Given the description of an element on the screen output the (x, y) to click on. 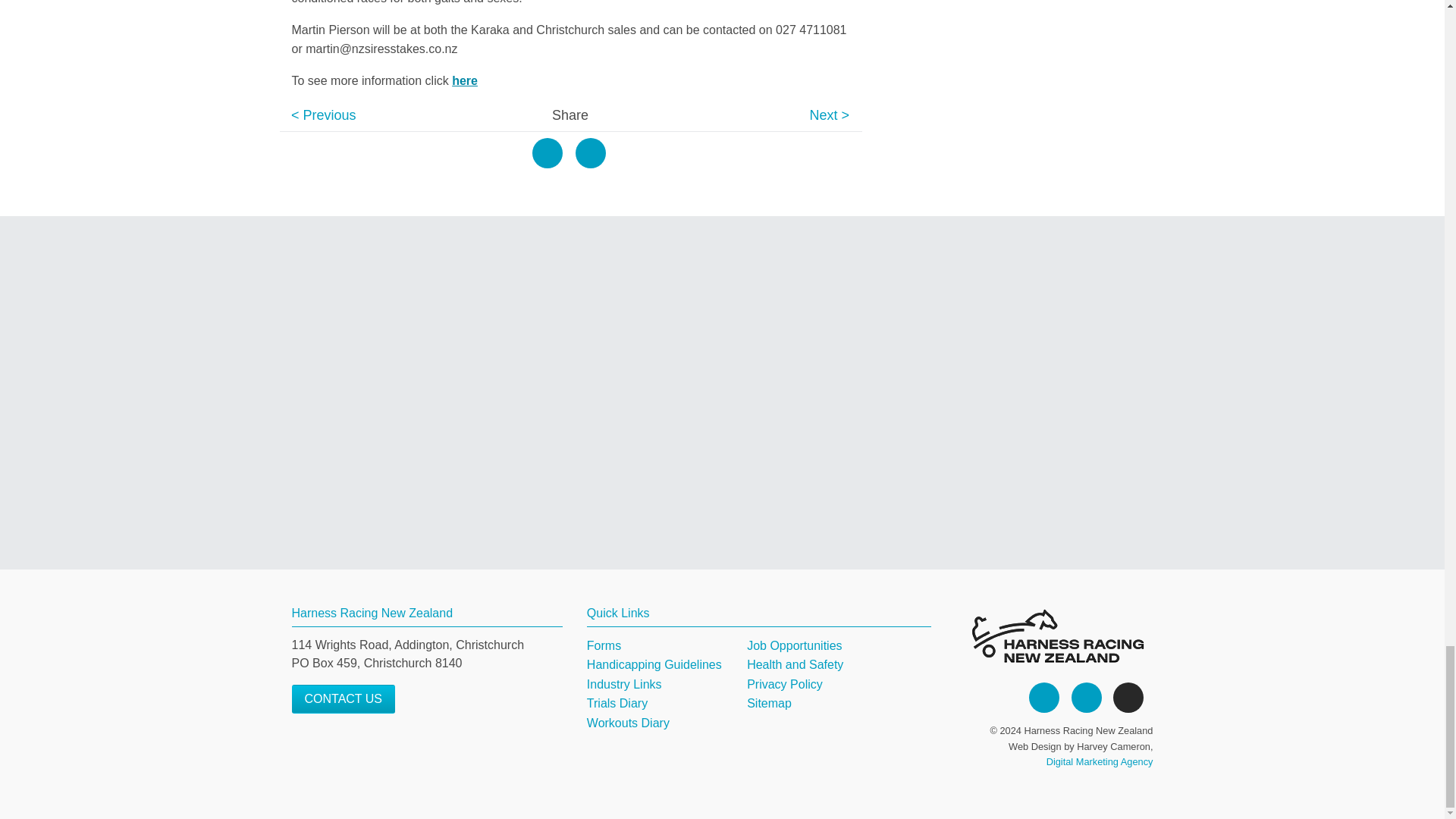
Aldebaran Park (723, 392)
Stonewall Stud (1018, 392)
Southern Harness (426, 392)
